Given the description of an element on the screen output the (x, y) to click on. 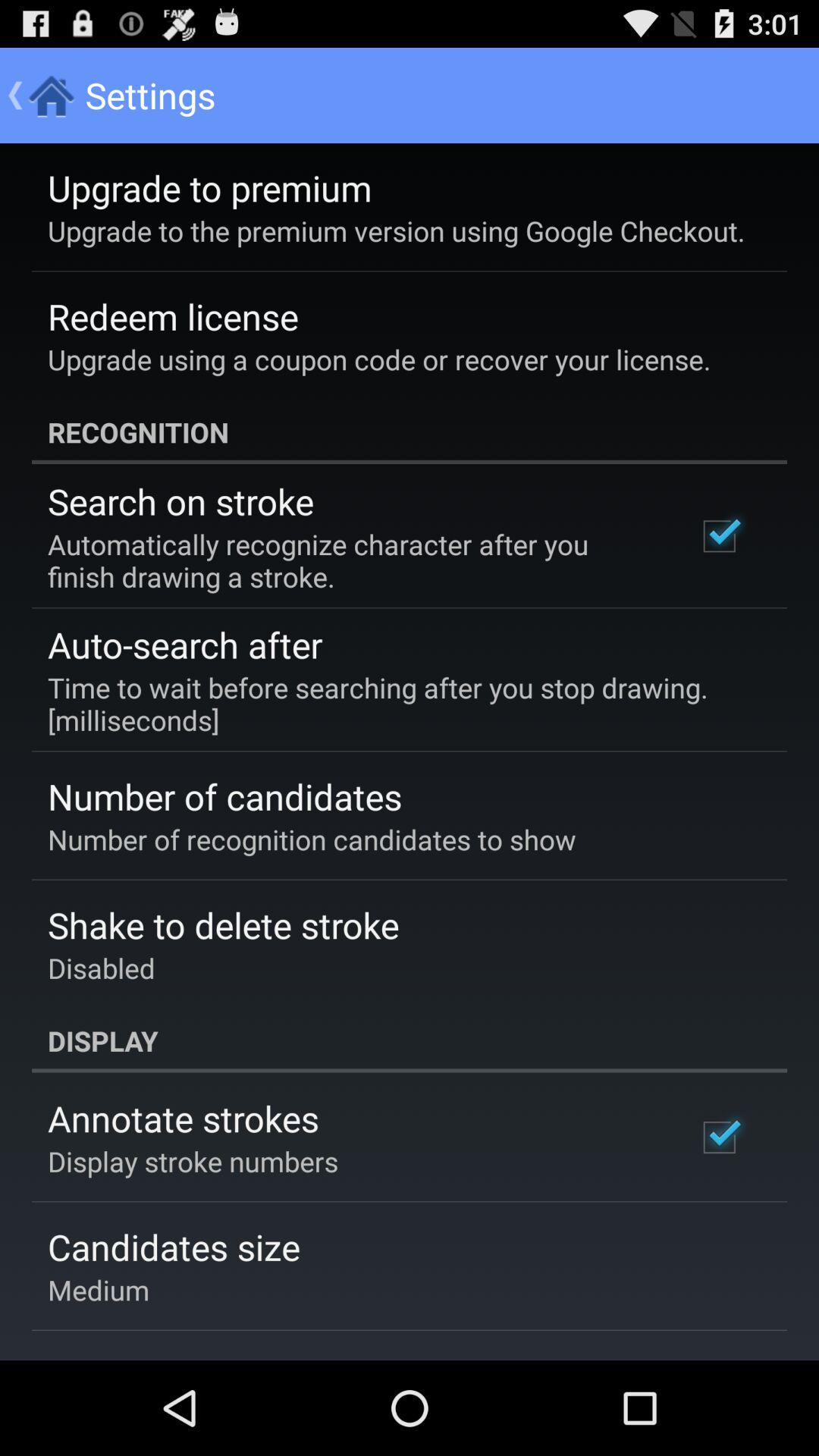
scroll until disabled icon (101, 967)
